Given the description of an element on the screen output the (x, y) to click on. 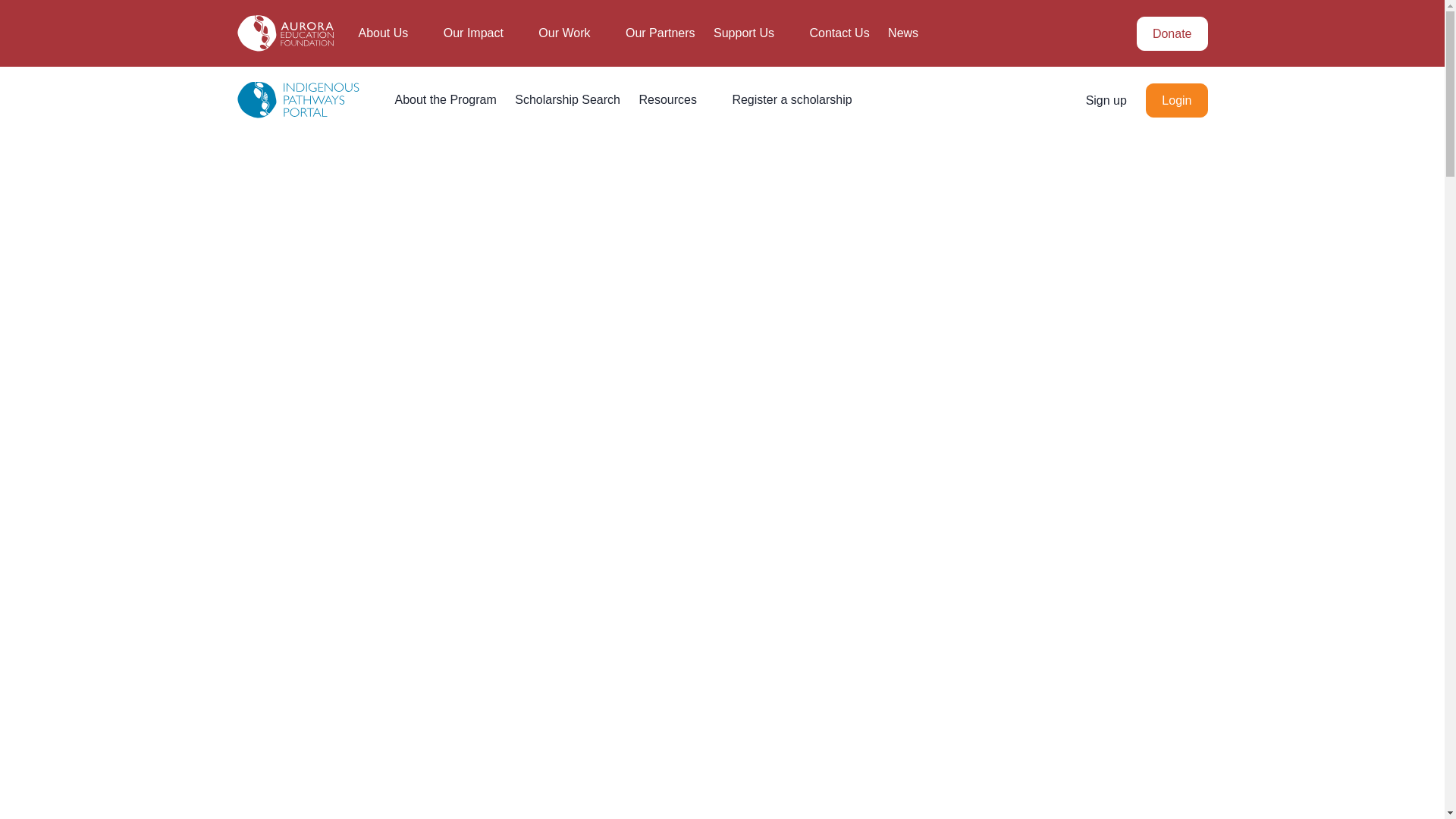
Prompt Element type: text (1099, 420)
Support Us Element type: text (751, 33)
Resources Element type: text (675, 99)
Our Work Element type: text (572, 33)
Our Partners Element type: text (660, 33)
About the Program Element type: text (444, 99)
Scholarship Search Element type: text (567, 99)
Sign up Element type: text (1106, 100)
Register a scholarship Element type: text (791, 99)
Login Element type: text (1176, 100)
Contact Us Element type: text (839, 33)
About Us Element type: text (390, 33)
Donate Element type: text (1172, 33)
Our Impact Element type: text (481, 33)
News Element type: text (911, 33)
